Given the description of an element on the screen output the (x, y) to click on. 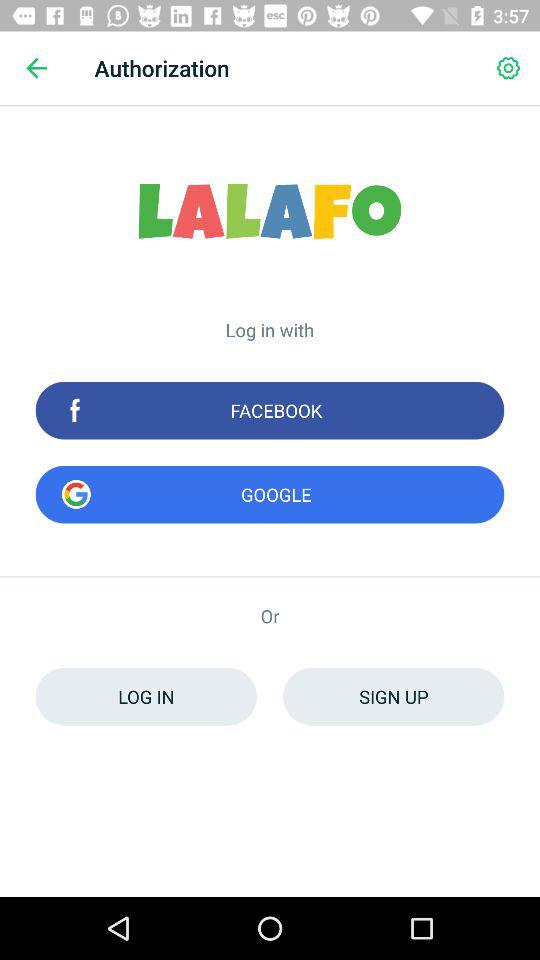
launch icon next to authorization icon (508, 67)
